Given the description of an element on the screen output the (x, y) to click on. 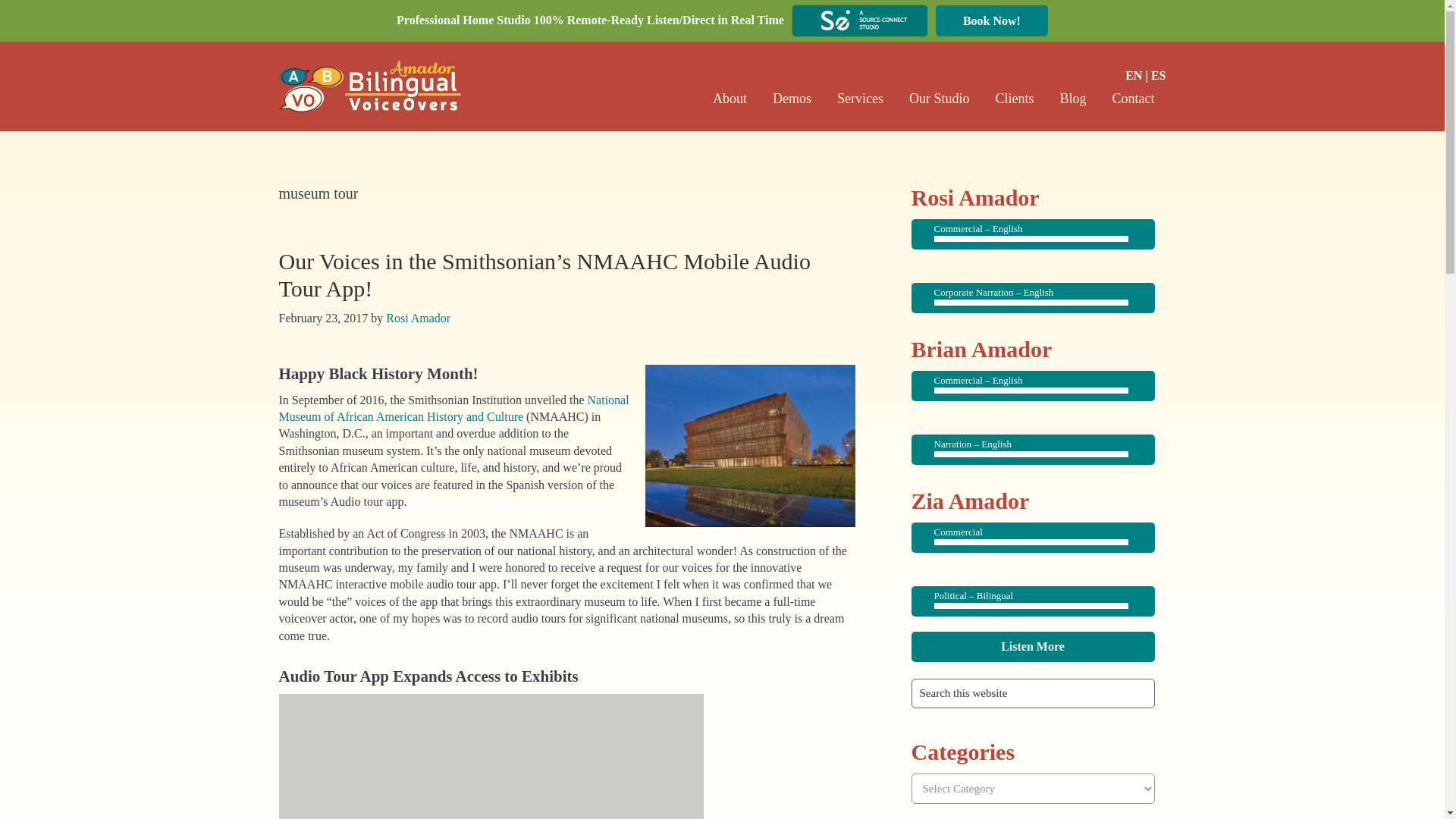
Book Now! (992, 20)
Our Studio (938, 98)
Rosi Amador (417, 318)
NMAAHC Audio Tour App (750, 445)
Demos (791, 98)
ES (1158, 74)
About (729, 98)
Blog (1072, 98)
Services (860, 98)
Search (1203, 684)
Contact (1133, 98)
Clients (1013, 98)
Search (1203, 684)
Source-connect-01 (860, 20)
EN (1133, 74)
